Given the description of an element on the screen output the (x, y) to click on. 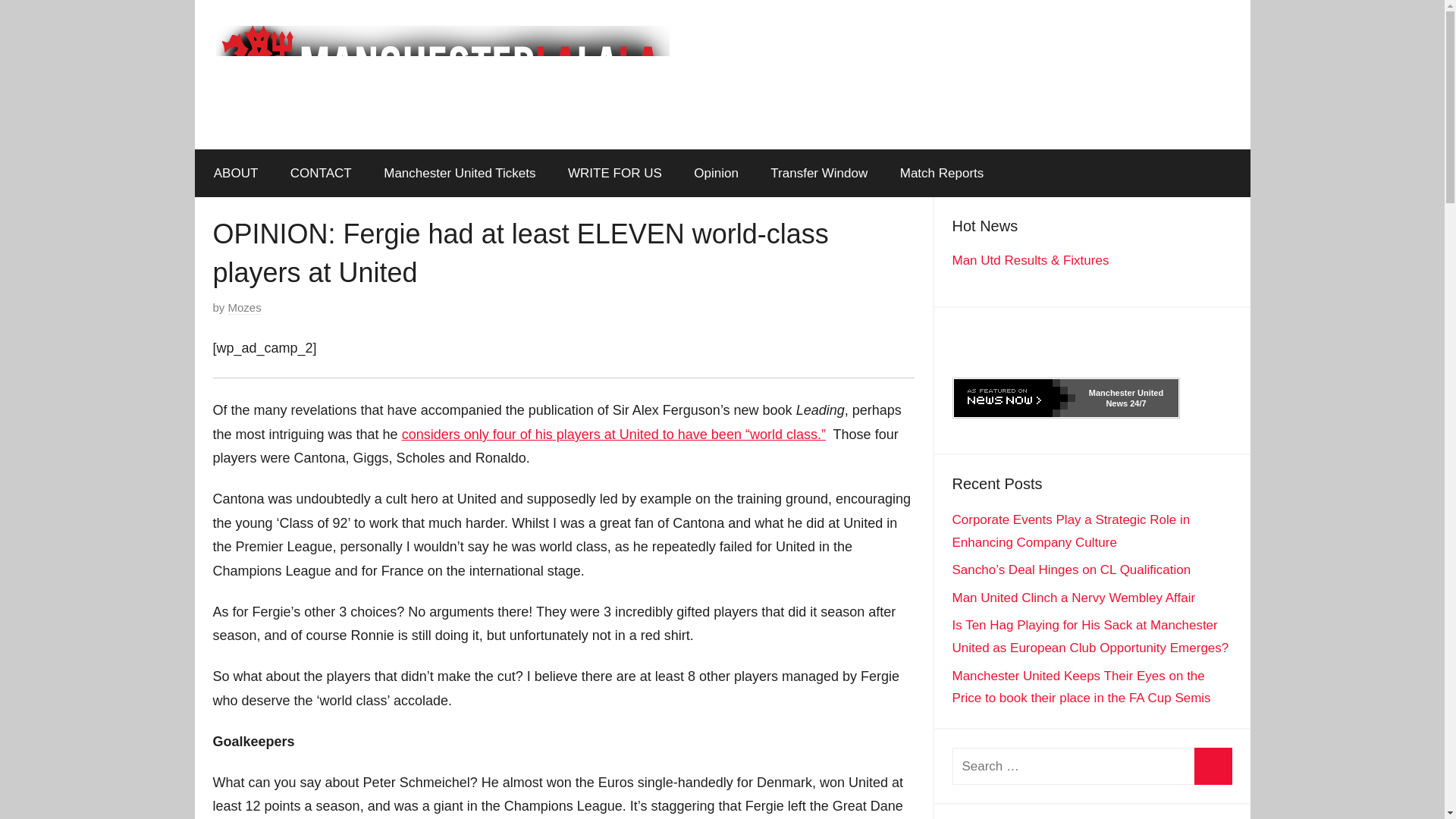
Mozes (245, 307)
Click here for more Manchester United news from NewsNow (1065, 397)
CONTACT (321, 172)
Manchester United Tickets (459, 172)
Match Reports (940, 172)
Opinion (716, 172)
Manchester United News (1126, 397)
View all posts by Mozes (245, 307)
Transfer Window (818, 172)
